Given the description of an element on the screen output the (x, y) to click on. 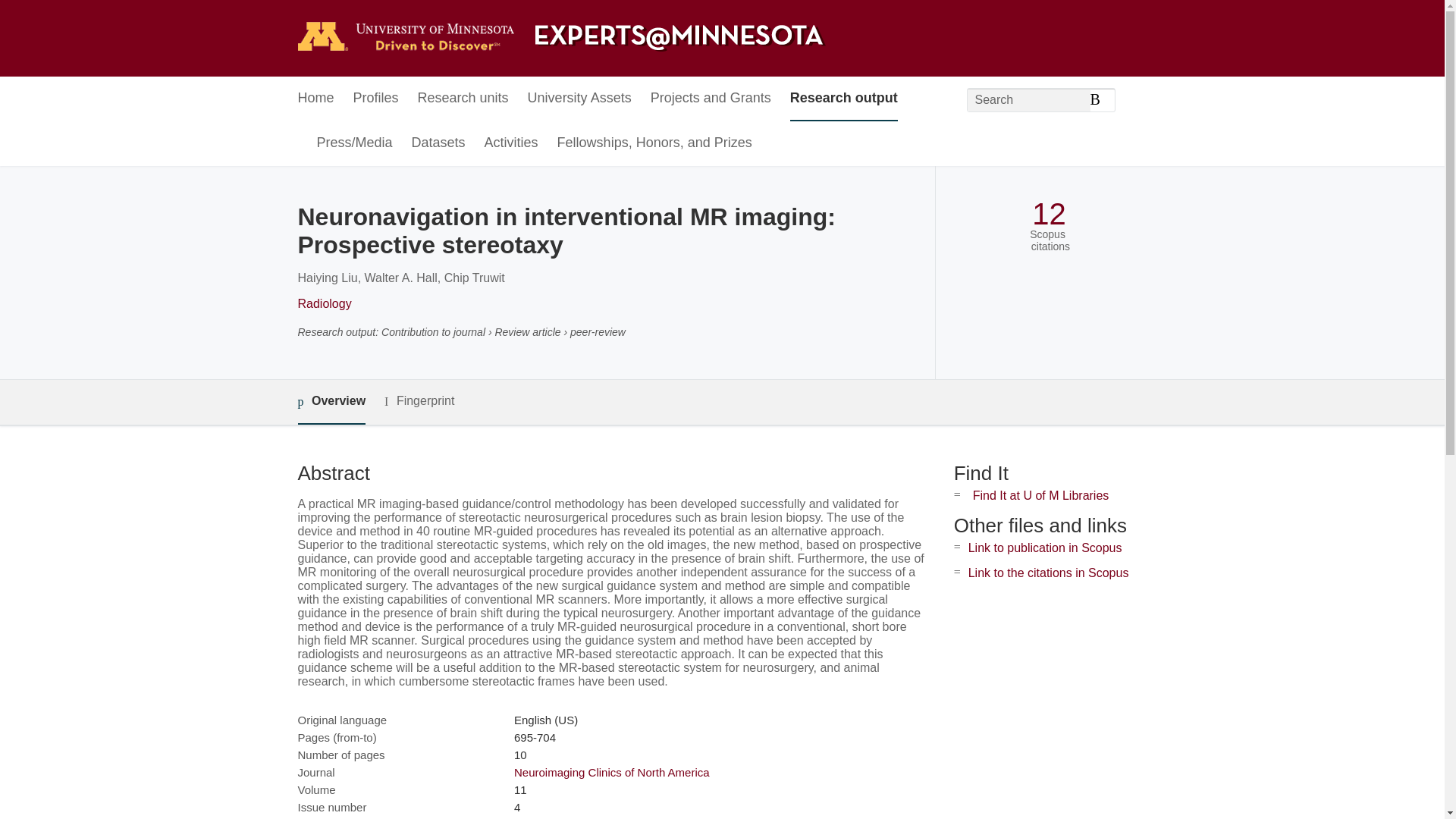
Neuroimaging Clinics of North America (611, 771)
Find It at U of M Libraries (1040, 495)
Fingerprint (419, 401)
Radiology (323, 303)
Datasets (438, 143)
Profiles (375, 98)
University Assets (579, 98)
Link to publication in Scopus (1045, 547)
12 (1048, 213)
